Given the description of an element on the screen output the (x, y) to click on. 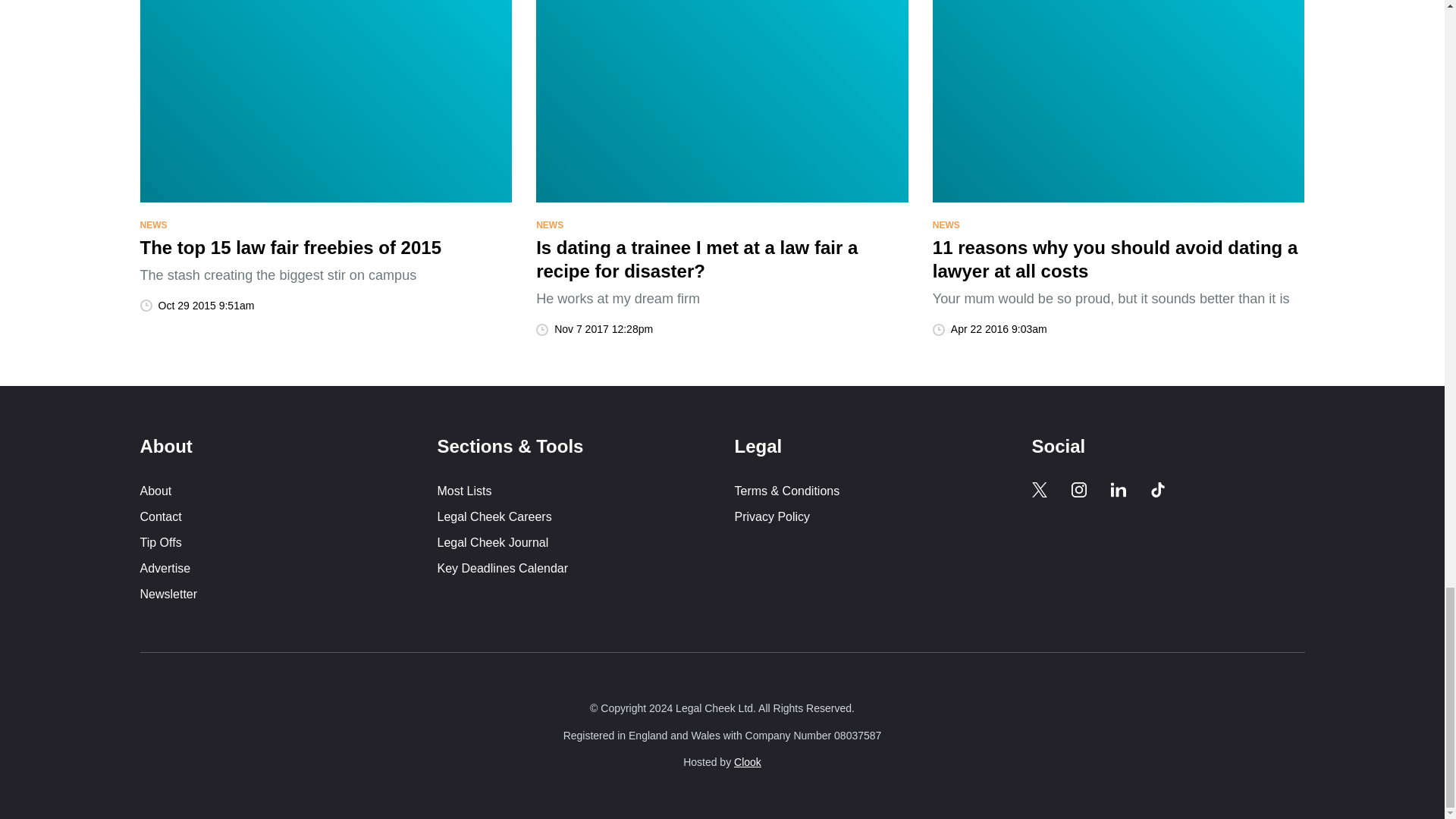
Legal Cheek Instagram (1078, 489)
Legal Cheek Tik Tok (1157, 489)
Legal Cheek Twitter (1038, 489)
Legal Cheek LinkedIn (1117, 489)
